Given the description of an element on the screen output the (x, y) to click on. 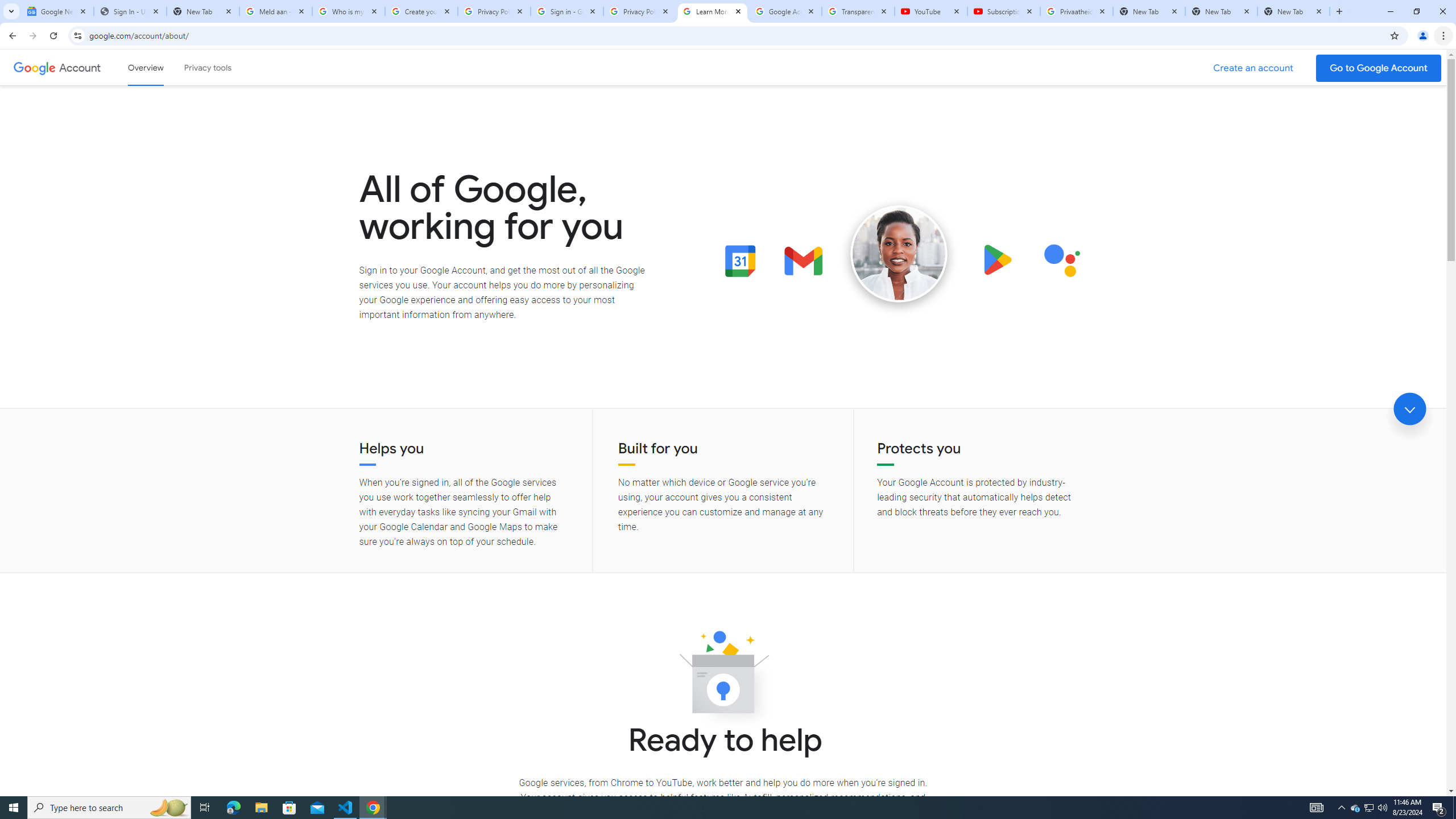
Skip to Content (162, 65)
Sign in - Google Accounts (566, 11)
Create a Google Account (1253, 67)
Google Account (80, 67)
